Given the description of an element on the screen output the (x, y) to click on. 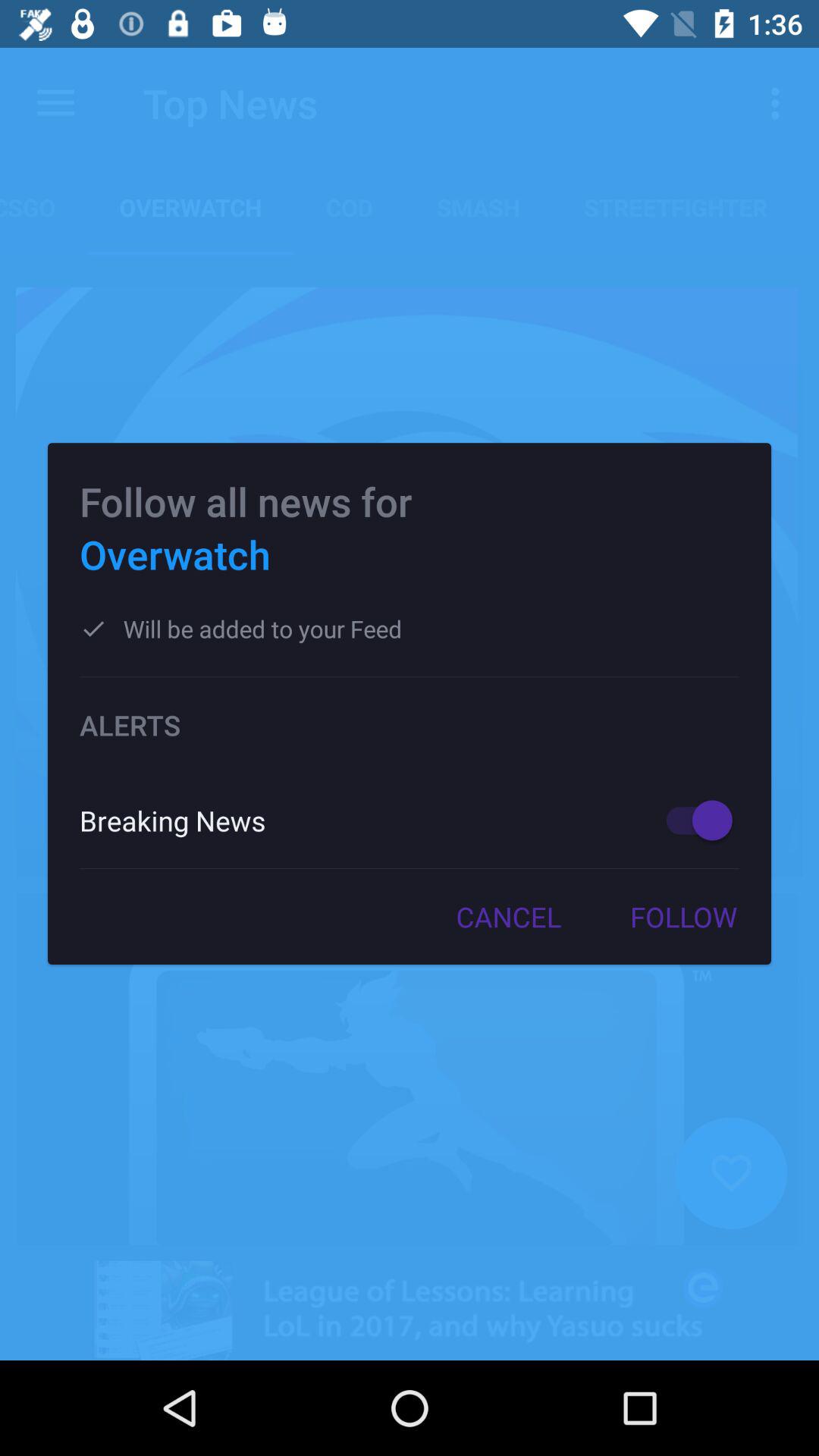
scroll to breaking news icon (356, 820)
